Given the description of an element on the screen output the (x, y) to click on. 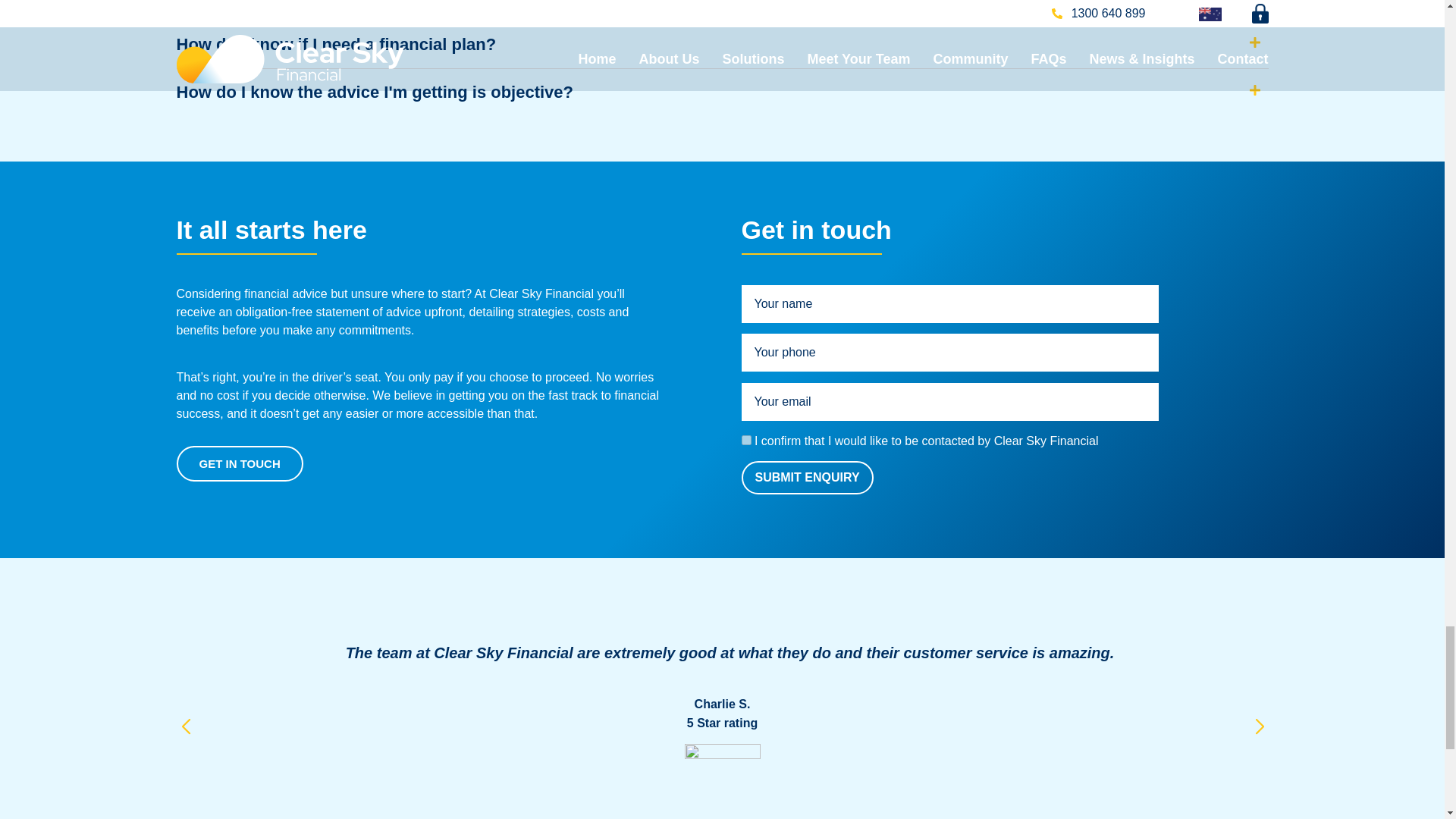
Submit Enquiry (807, 477)
Submit Enquiry (807, 477)
1 (746, 439)
How do I know the advice I'm getting is objective? (374, 91)
GET IN TOUCH (239, 463)
How do I know I can trust you? (299, 2)
How do I know if I need a financial plan? (336, 44)
